Given the description of an element on the screen output the (x, y) to click on. 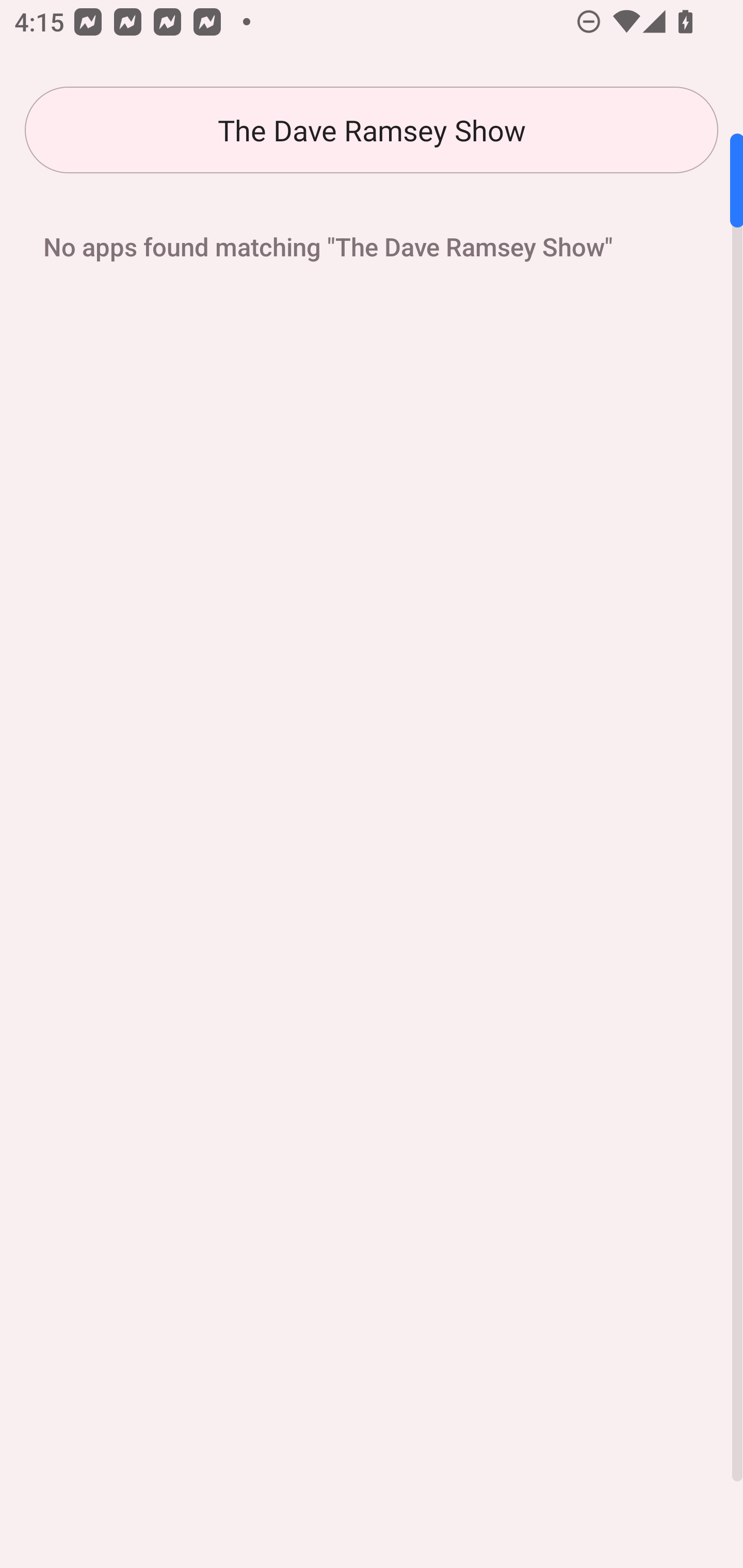
The Dave Ramsey Show (371, 130)
